Given the description of an element on the screen output the (x, y) to click on. 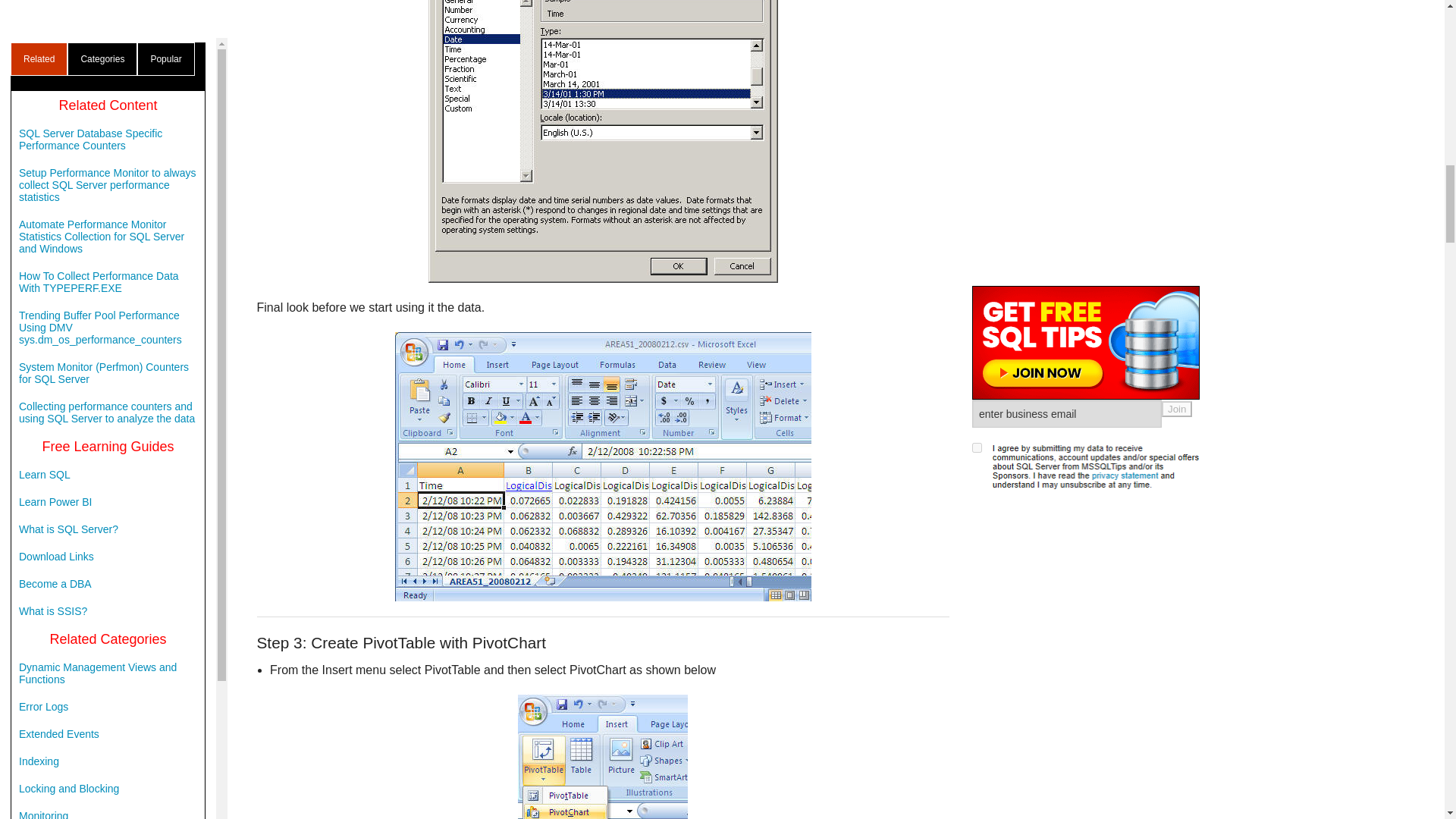
1 (976, 94)
Join (1176, 56)
enter business email (1066, 60)
